Given the description of an element on the screen output the (x, y) to click on. 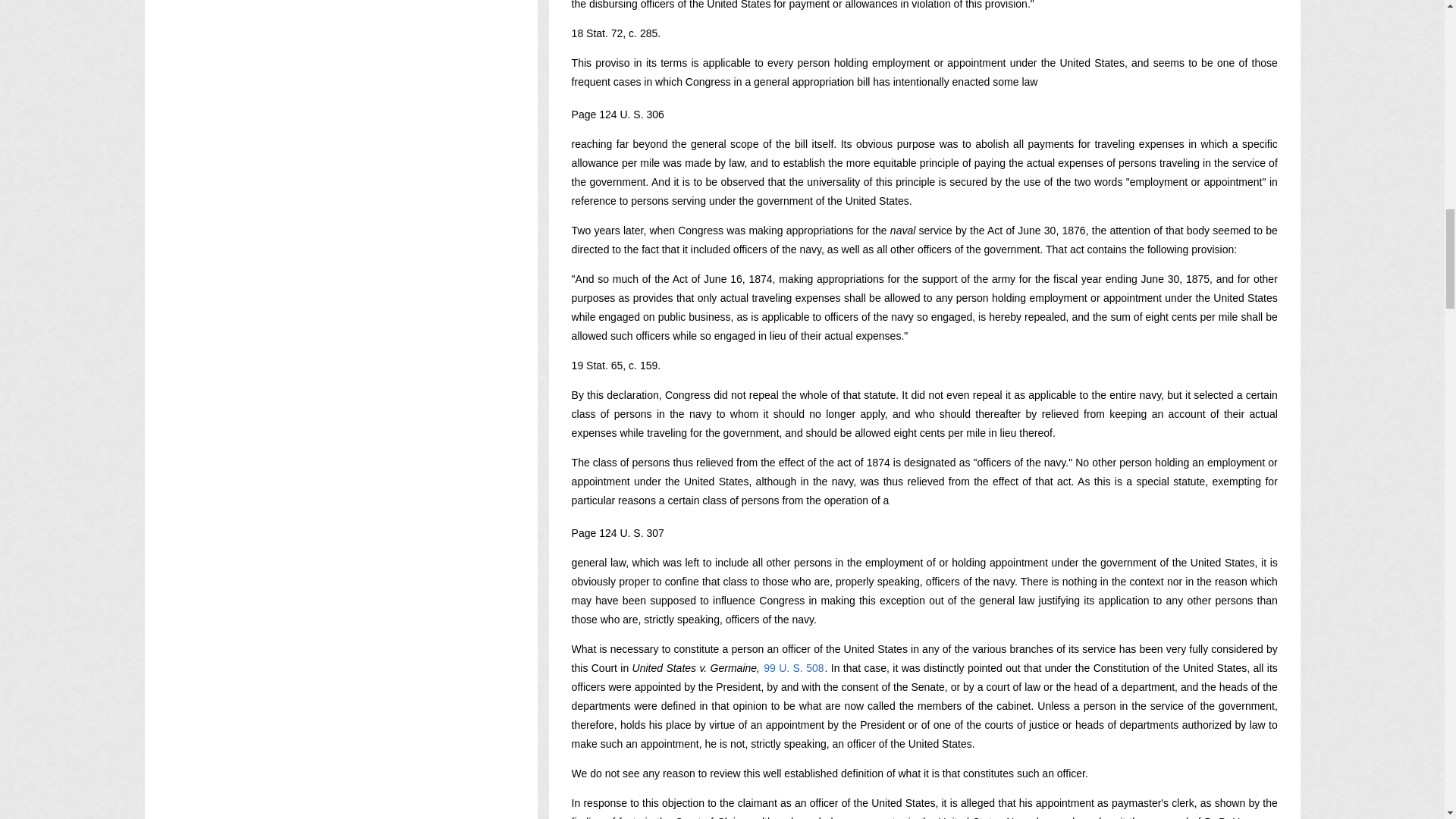
Page 124 U. S. 307 (617, 532)
99 U. S. 508 (793, 667)
Page 124 U. S. 306 (617, 114)
